Given the description of an element on the screen output the (x, y) to click on. 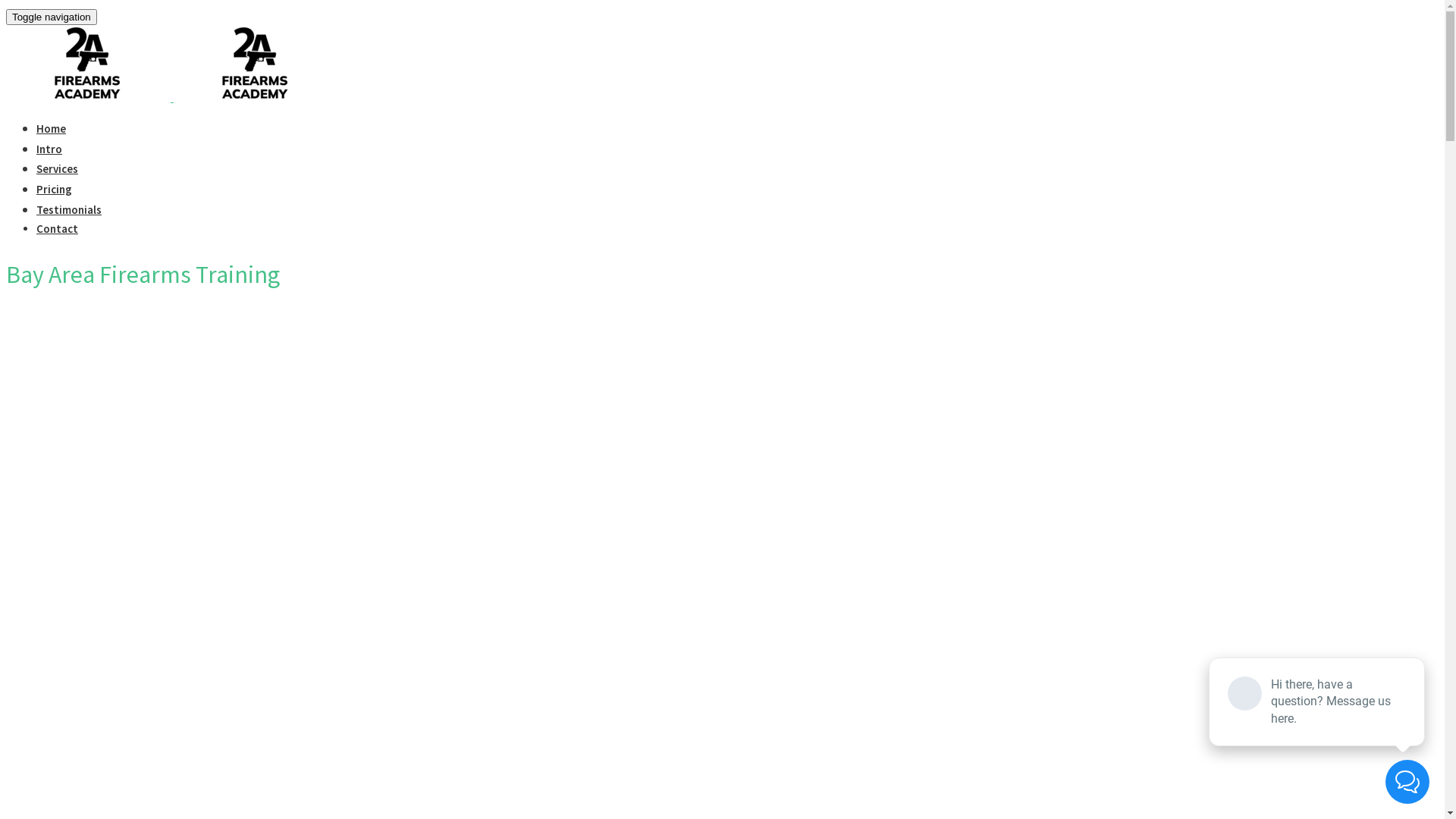
Pricing Element type: text (54, 189)
Intro Element type: text (49, 148)
Home Element type: text (50, 128)
Services Element type: text (57, 168)
Toggle navigation Element type: text (51, 17)
Contact Element type: text (57, 228)
Testimonials Element type: text (68, 209)
